Given the description of an element on the screen output the (x, y) to click on. 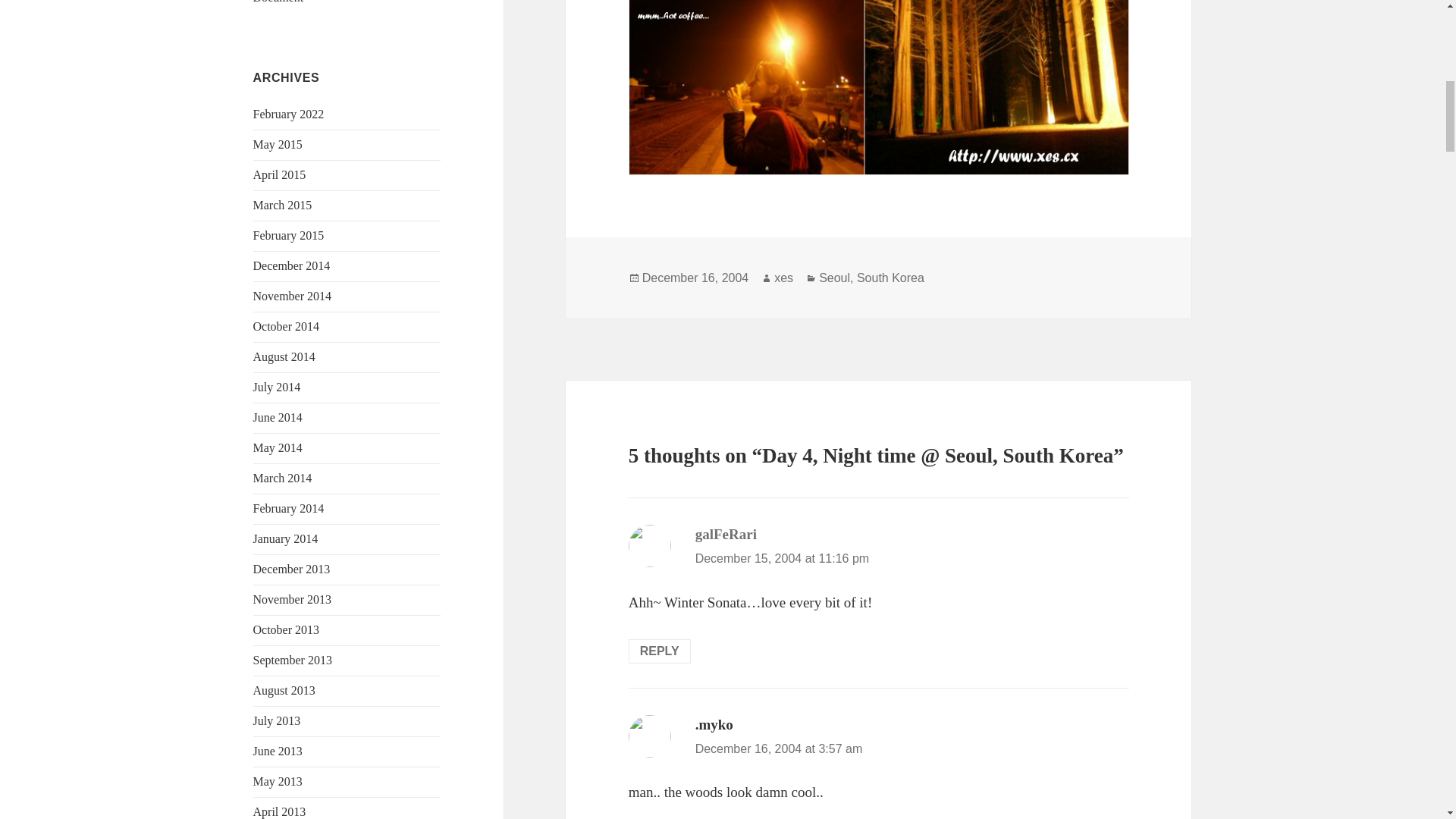
April 2013 (279, 811)
May 2015 (277, 144)
October 2014 (286, 326)
February 2015 (288, 235)
December 2013 (291, 568)
November 2014 (292, 295)
March 2015 (283, 205)
July 2013 (277, 720)
February 2014 (288, 508)
January 2014 (285, 538)
